Given the description of an element on the screen output the (x, y) to click on. 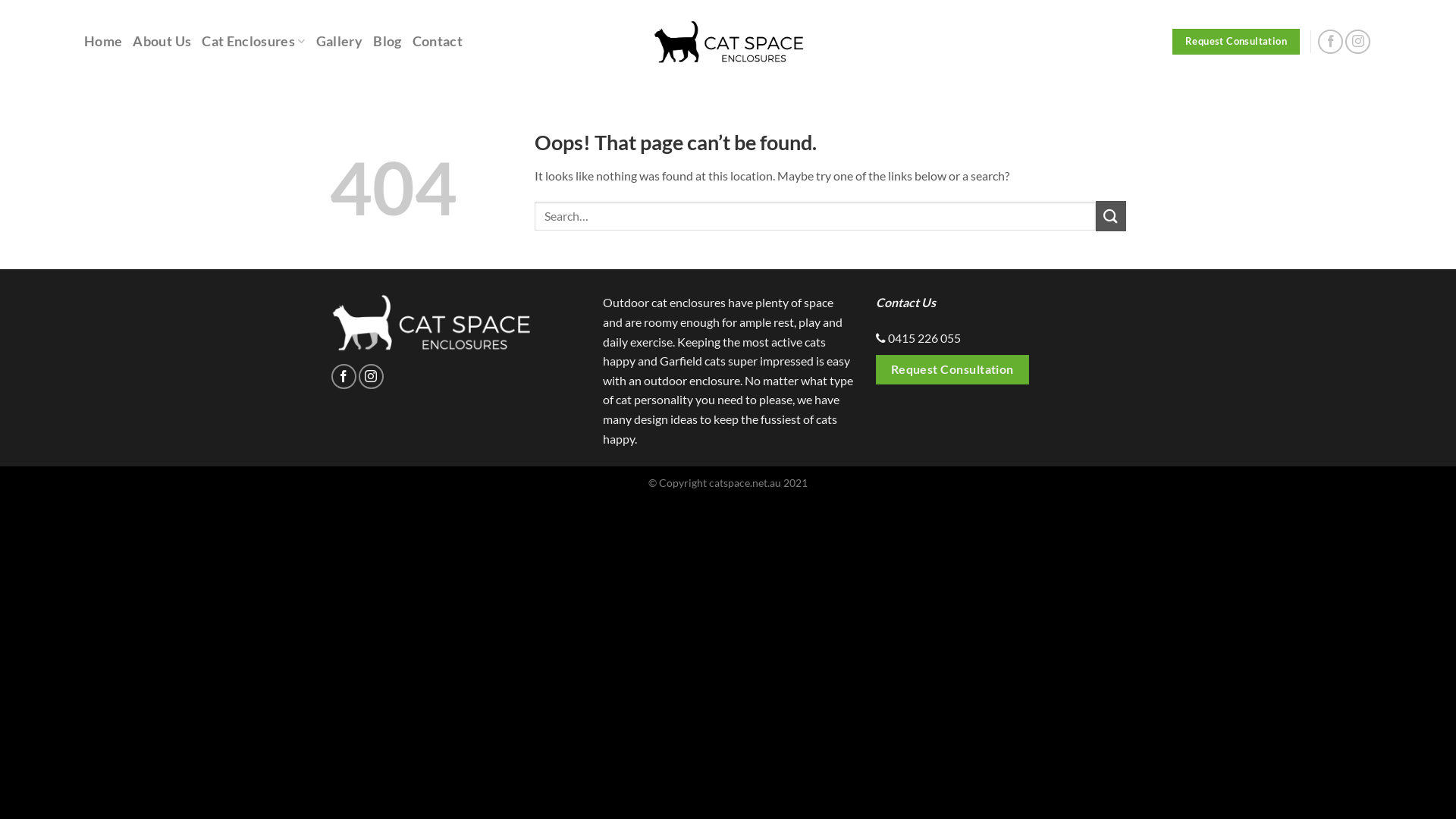
About Us Element type: text (161, 41)
Gallery Element type: text (339, 41)
 0415 226 055 Element type: text (922, 337)
Blog Element type: text (387, 41)
Request Consultation Element type: text (1235, 41)
Home Element type: text (103, 41)
Request Consultation Element type: text (952, 369)
Cat Enclosures Element type: text (252, 41)
Contact Element type: text (437, 41)
Cat Enclosures Perth - Best Outdoor Cat Enclosures Element type: hover (727, 41)
